Given the description of an element on the screen output the (x, y) to click on. 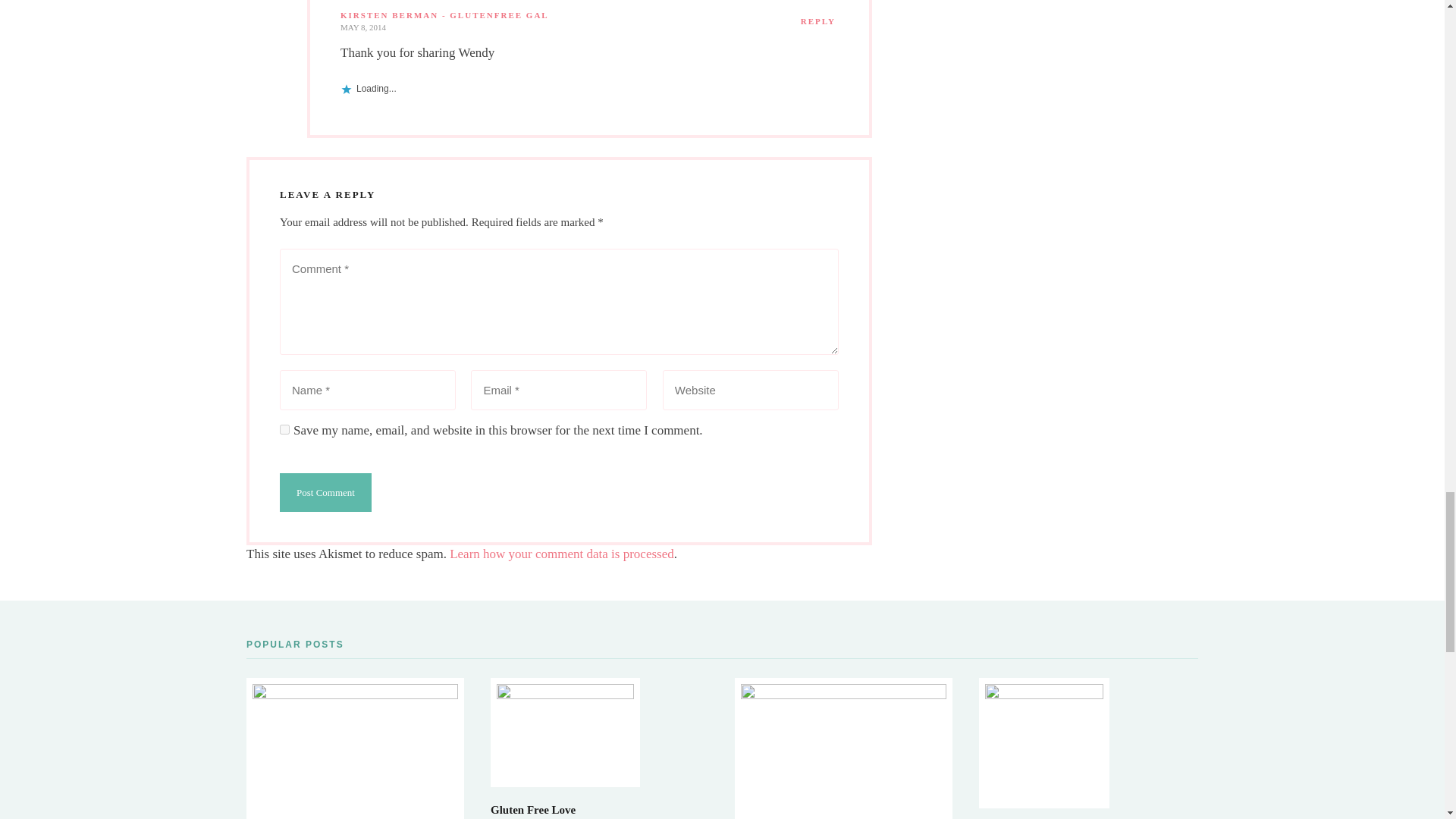
Post Comment (325, 492)
yes (284, 429)
